Given the description of an element on the screen output the (x, y) to click on. 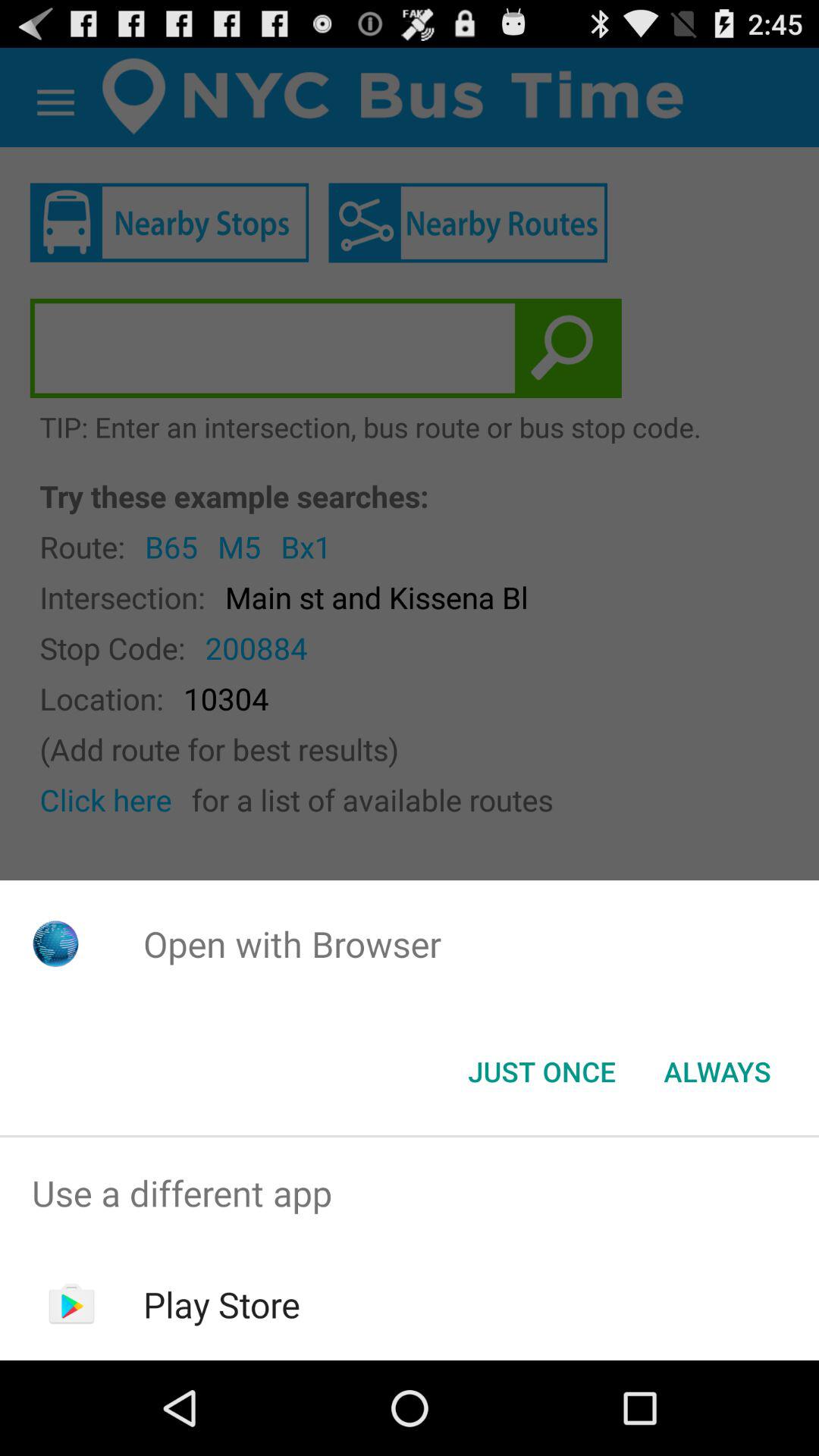
click the icon below use a different (221, 1304)
